Given the description of an element on the screen output the (x, y) to click on. 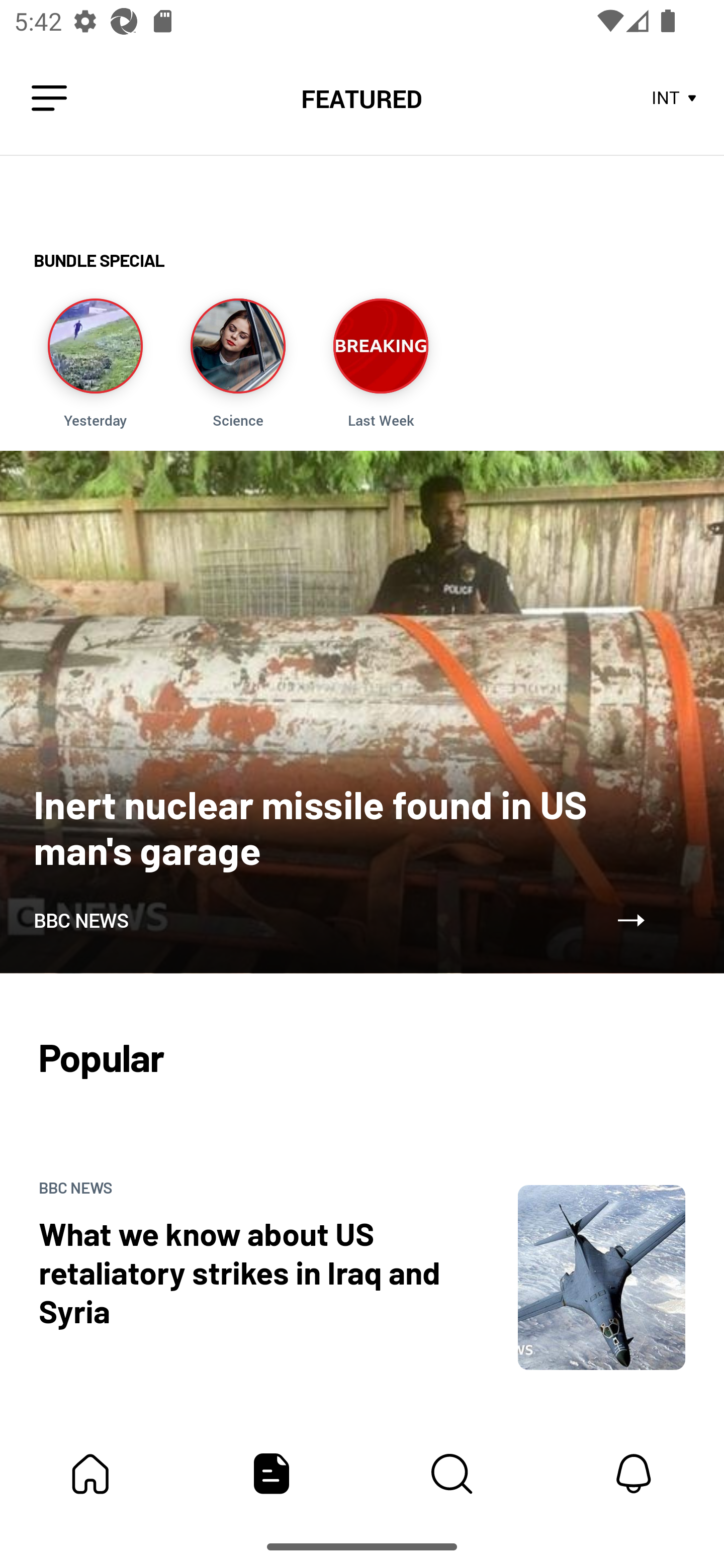
INT Store Area (674, 98)
Leading Icon (49, 98)
Story Image Yesterday (94, 363)
Story Image Science (237, 363)
Story Image Last Week (380, 363)
My Bundle (90, 1473)
Content Store (452, 1473)
Notifications (633, 1473)
